Given the description of an element on the screen output the (x, y) to click on. 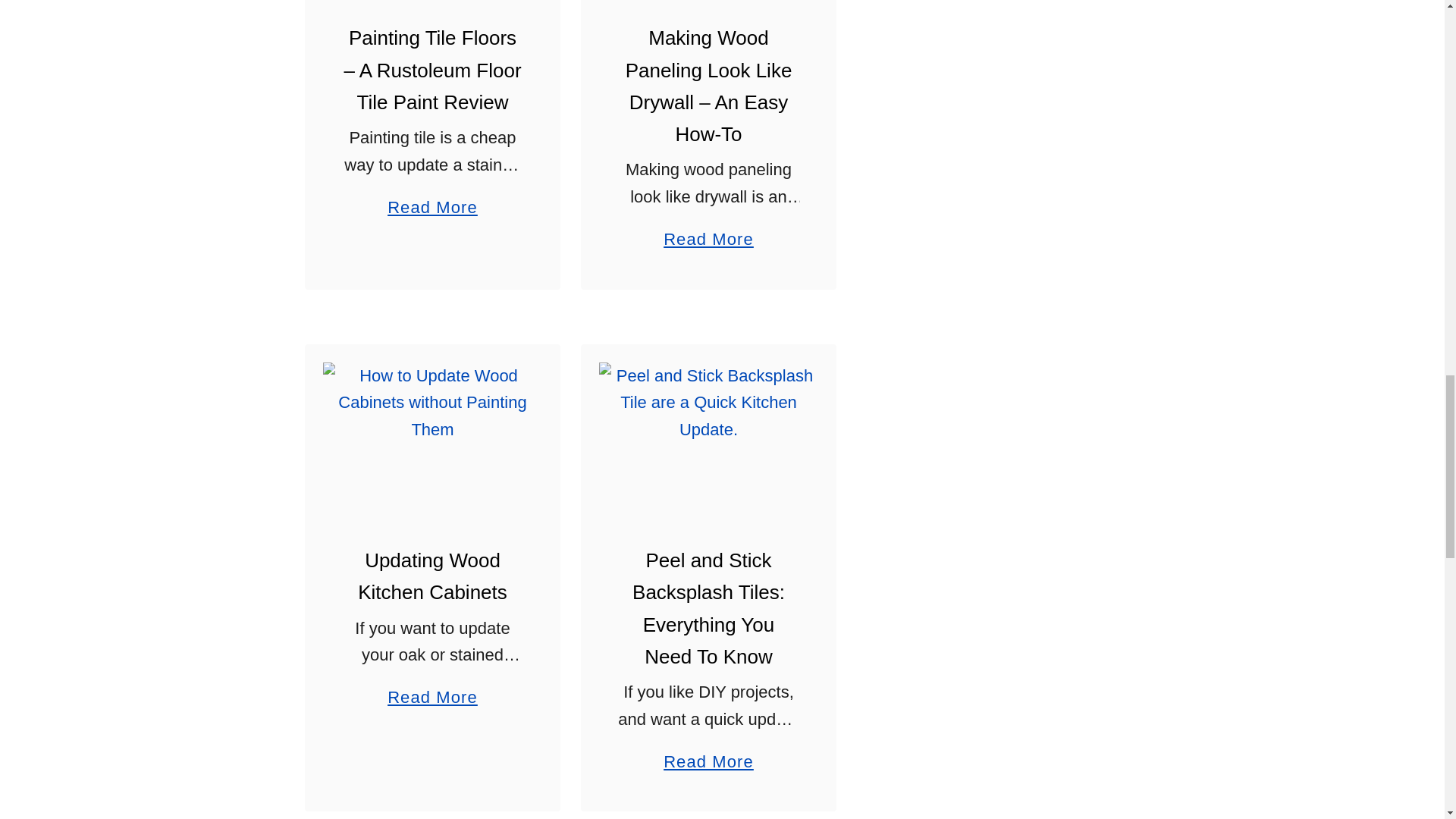
Peel and Stick Backsplash Tiles: Everything You Need To Know (708, 434)
Updating Wood Kitchen Cabinets (432, 434)
Updating Wood Kitchen Cabinets (432, 575)
